Given the description of an element on the screen output the (x, y) to click on. 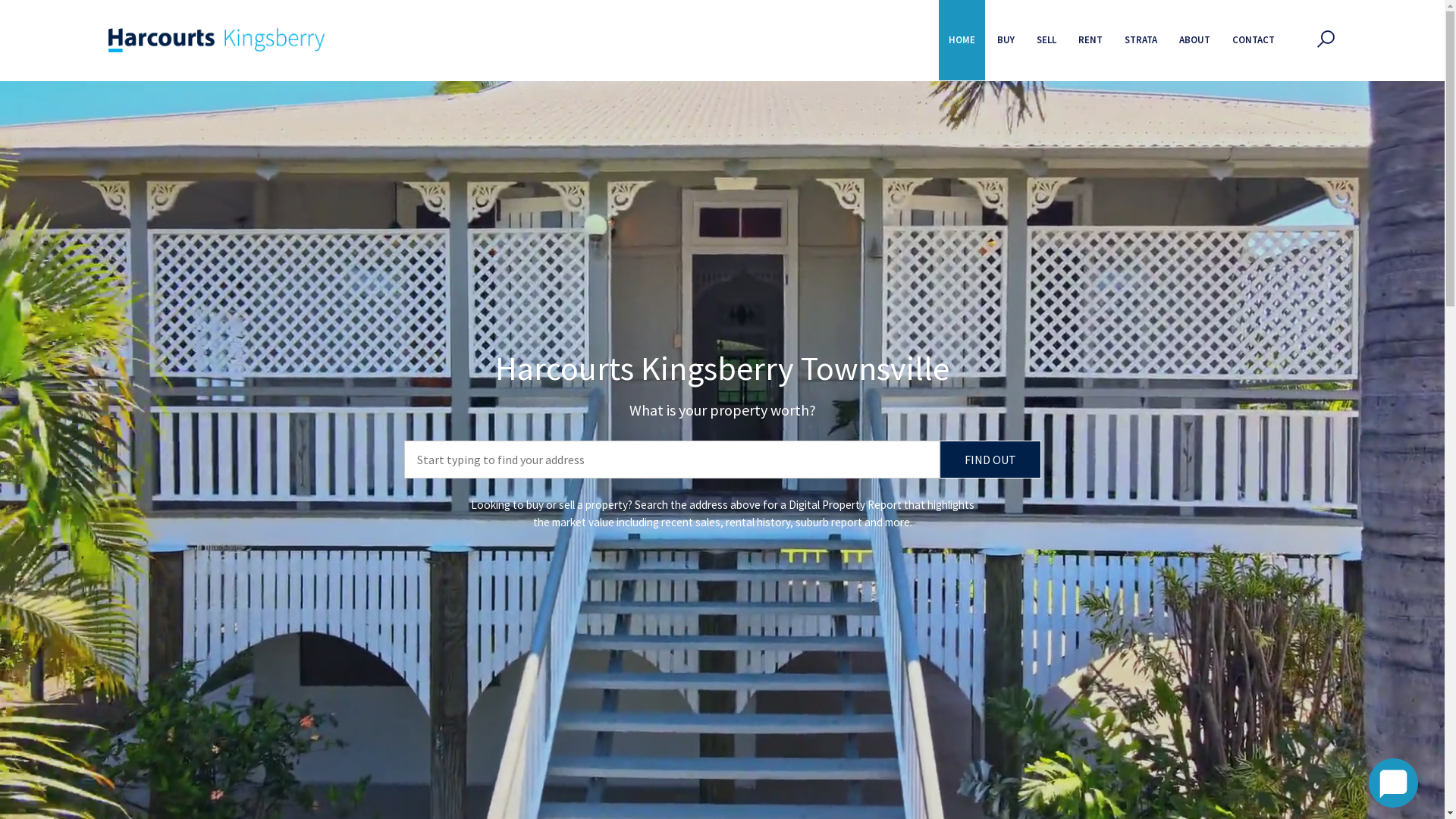
ABOUT Element type: text (1194, 40)
Search Element type: text (953, 133)
RENT Element type: text (1090, 40)
CONTACT Element type: text (1253, 40)
HOME Element type: text (961, 40)
BUY Element type: text (1005, 40)
FIND OUT Element type: text (989, 459)
STRATA Element type: text (1140, 40)
SELL Element type: text (1046, 40)
